Given the description of an element on the screen output the (x, y) to click on. 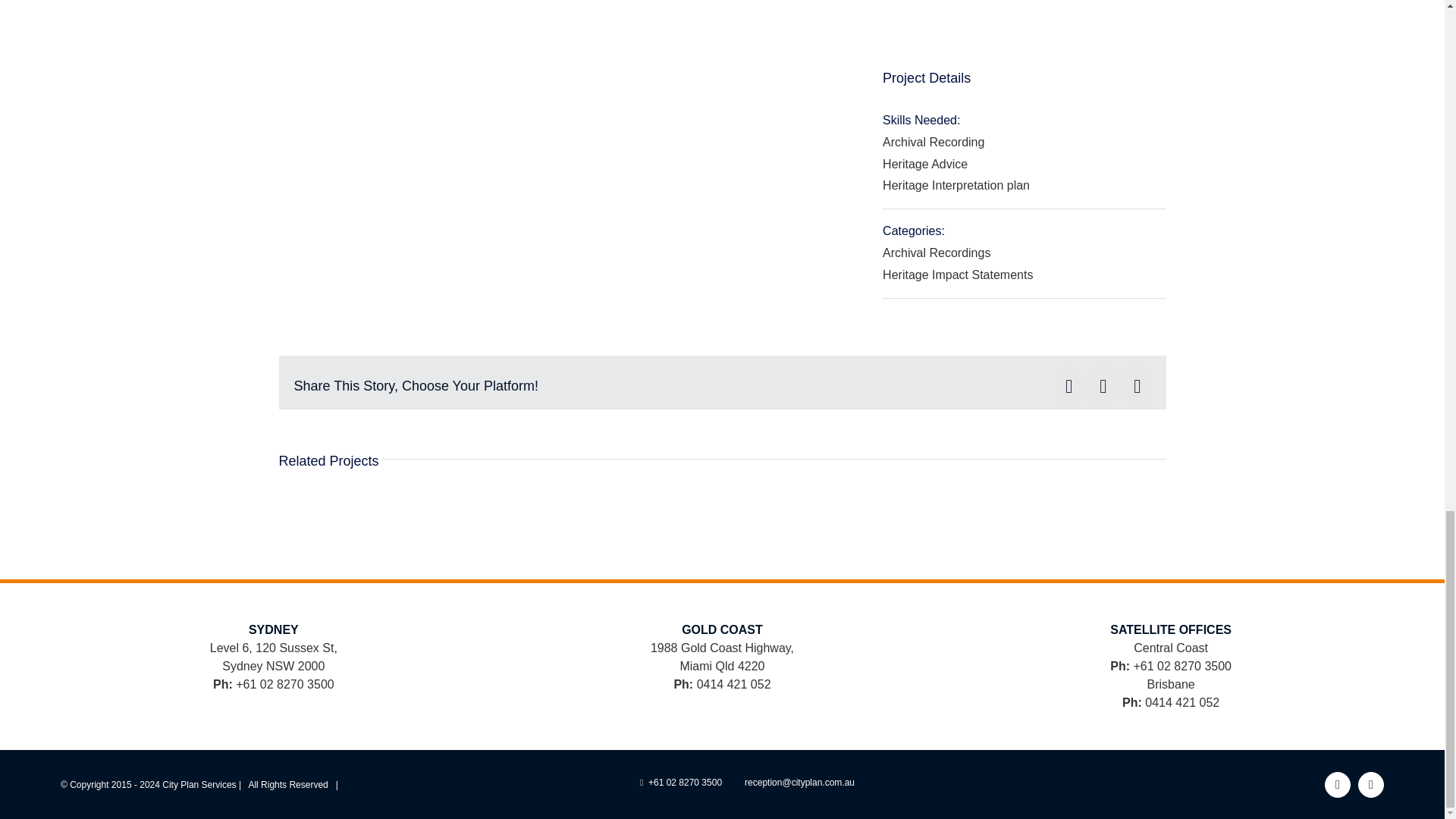
Heritage Interpretation plan (955, 185)
Archival Recordings (936, 252)
Heritage Advice (925, 164)
Heritage Impact Statements (957, 274)
Archival Recording (933, 141)
Facebook (1337, 784)
LinkedIn (1371, 784)
